Given the description of an element on the screen output the (x, y) to click on. 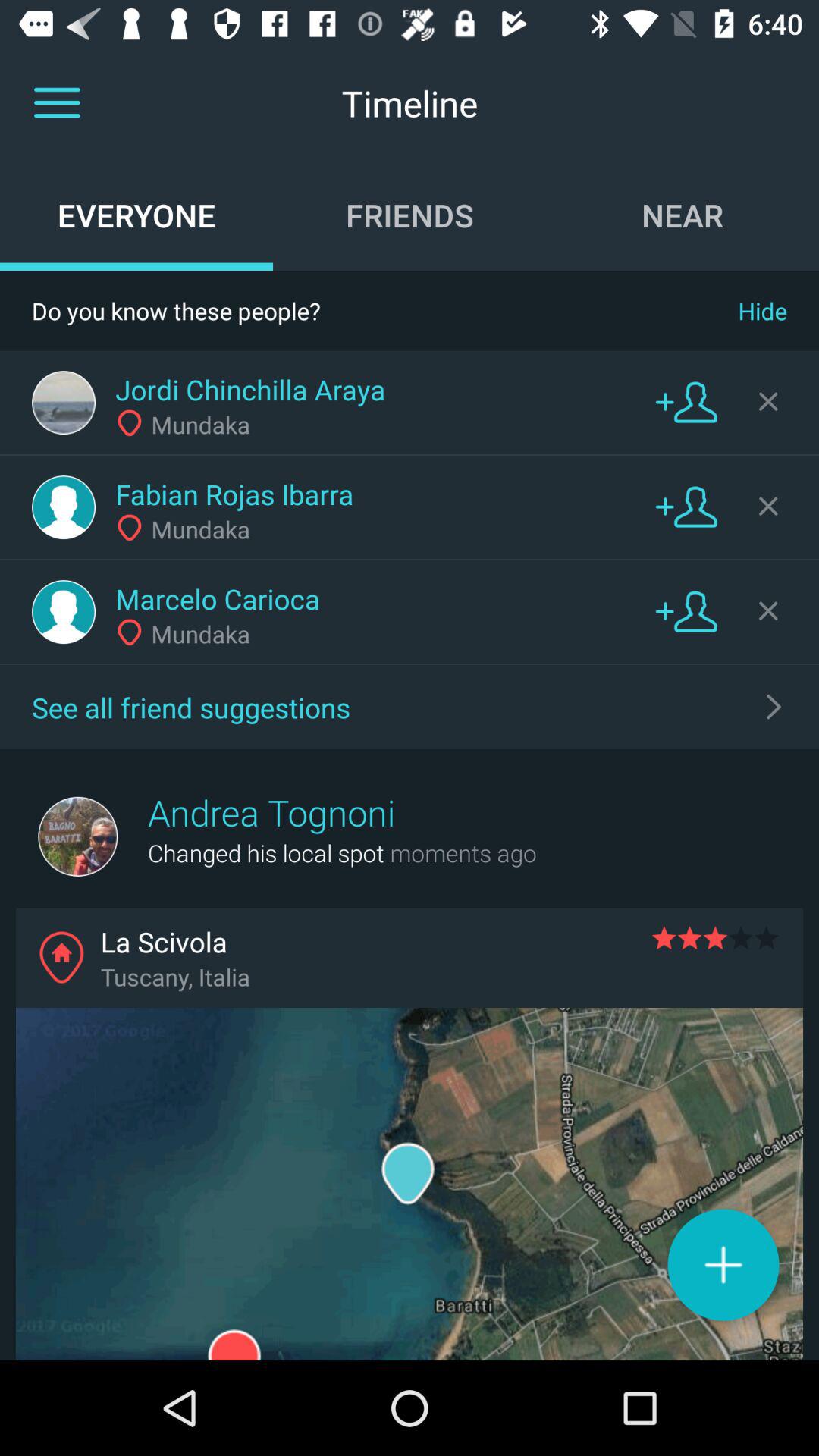
remove person (768, 610)
